Given the description of an element on the screen output the (x, y) to click on. 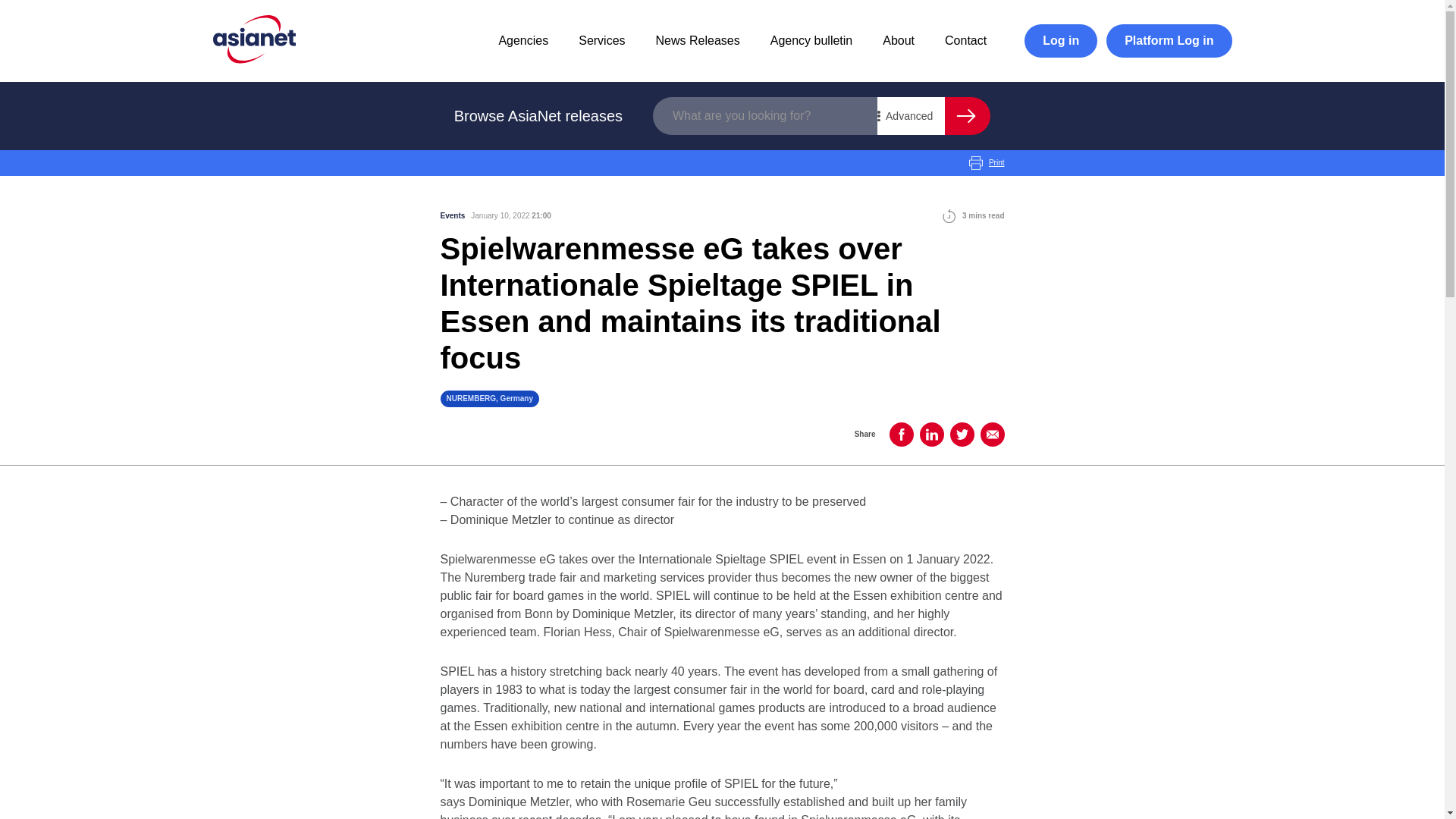
Advanced (910, 116)
Log in (1061, 40)
Share on Twitter (961, 434)
Share on Facebook (900, 434)
Share using Email (991, 434)
Print (986, 162)
About (898, 40)
Contact (965, 40)
Agencies (522, 40)
News Releases (697, 40)
